Given the description of an element on the screen output the (x, y) to click on. 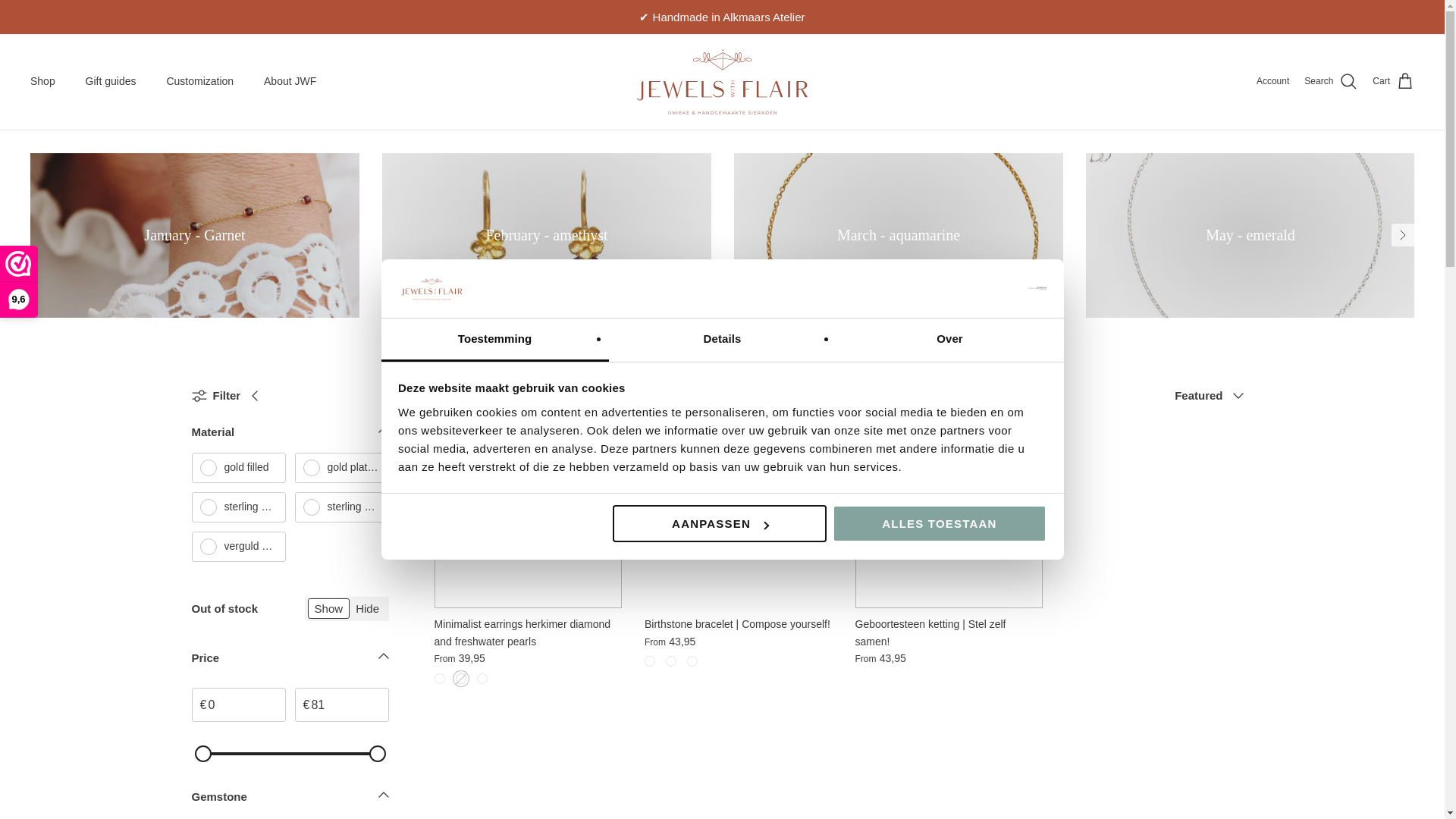
Jewels with Flair (722, 81)
Details (721, 339)
Toestemming (494, 339)
Over (948, 339)
